Given the description of an element on the screen output the (x, y) to click on. 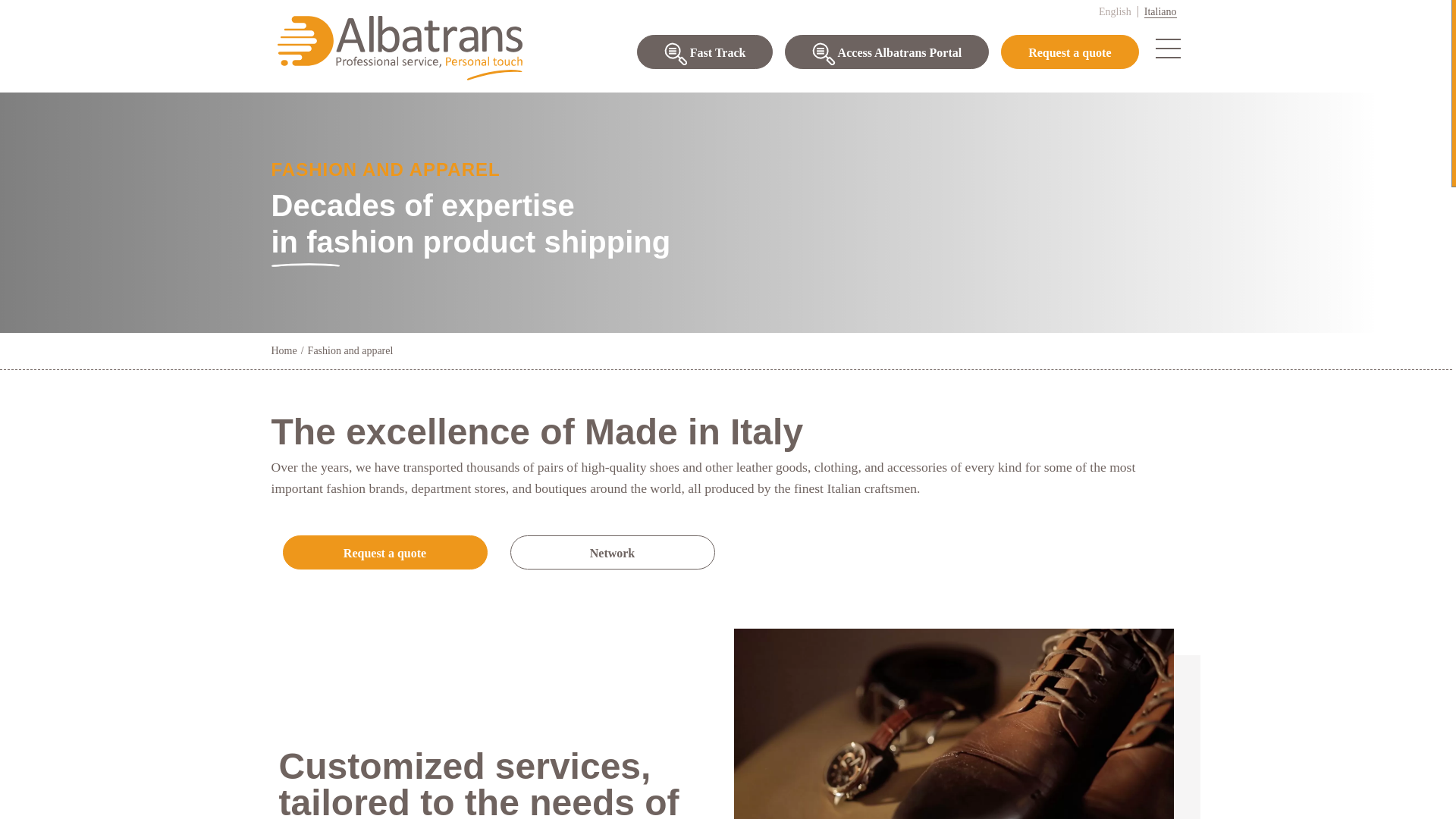
Request a quote (1069, 51)
Fast Track (705, 51)
Home (283, 350)
Italiano (1160, 11)
English (1115, 11)
Access Albatrans Portal (886, 51)
